Given the description of an element on the screen output the (x, y) to click on. 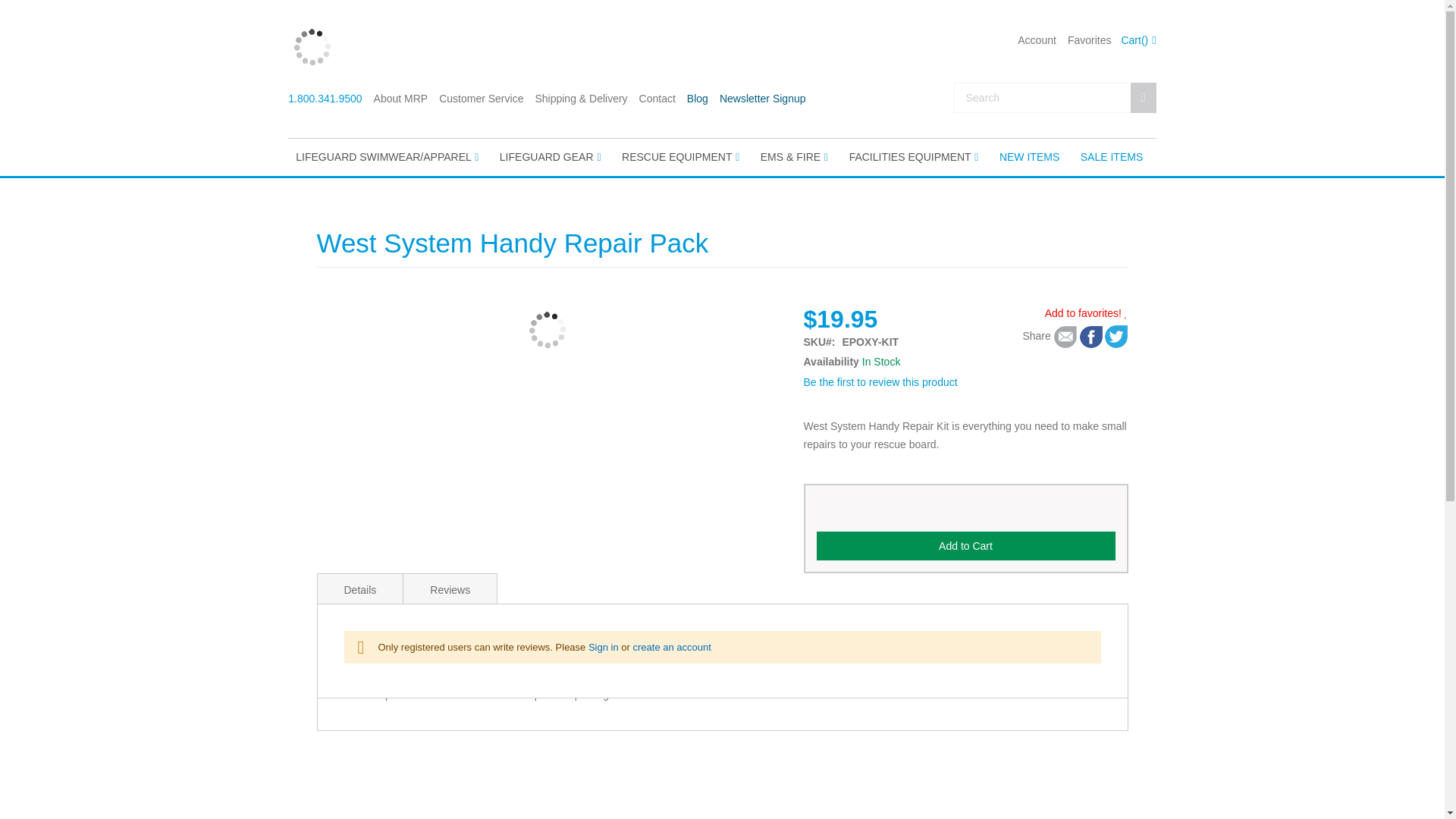
Email to a Friend (1065, 336)
Account (1037, 40)
Customer Service (480, 98)
1.800.341.9500 (324, 98)
Contact (657, 98)
Newsletter Signup (762, 98)
Facilities Equipment (913, 157)
Rescue Equipment (681, 157)
LIFEGUARD GEAR (550, 157)
Share on Twitter (1091, 336)
Add to Cart (965, 545)
Availability (881, 360)
About MRP (401, 98)
Lifeguard Gear (550, 157)
Favorites (1089, 40)
